Given the description of an element on the screen output the (x, y) to click on. 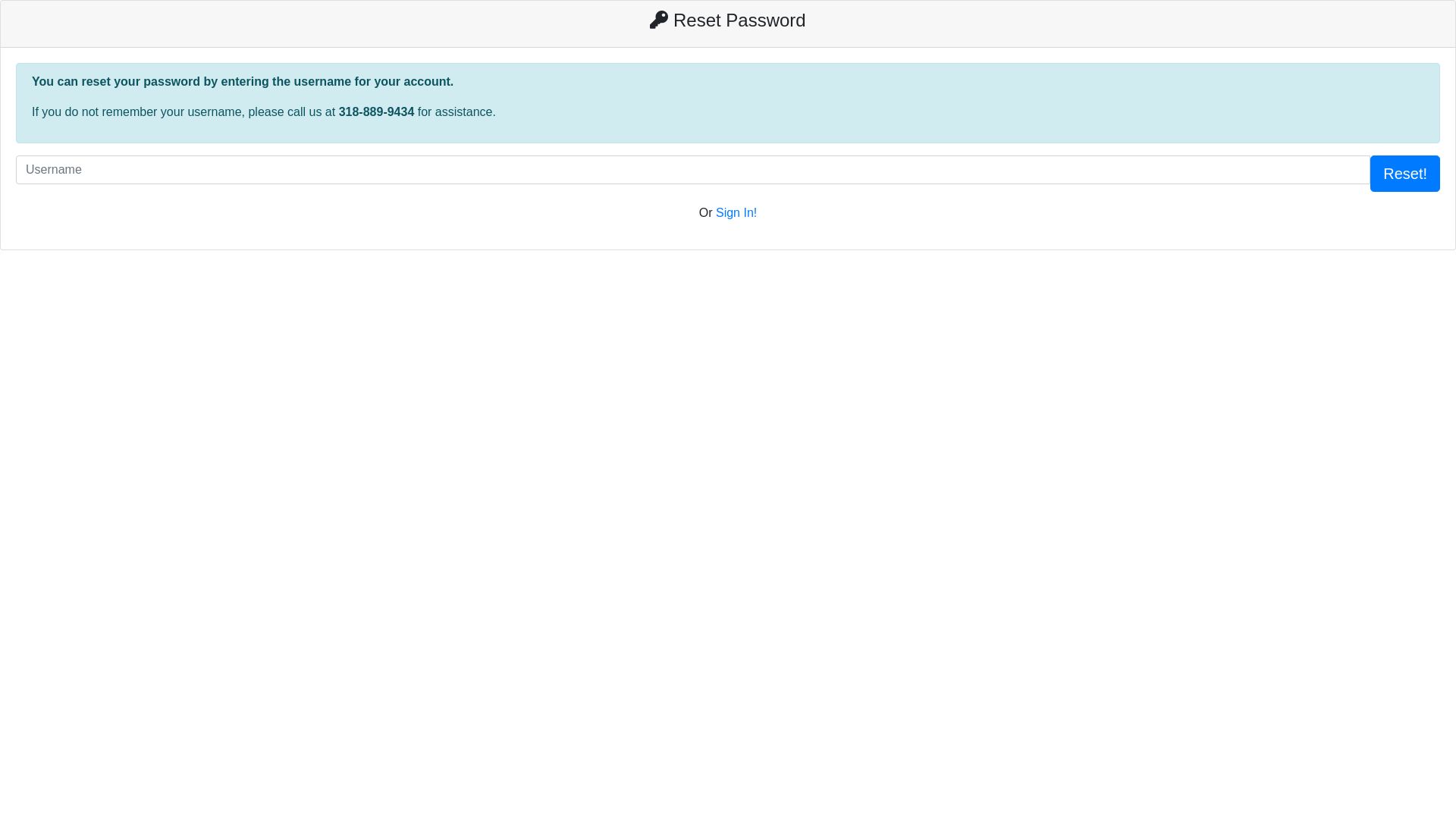
Sign In! Element type: text (735, 212)
Reset! Element type: text (1405, 173)
